Given the description of an element on the screen output the (x, y) to click on. 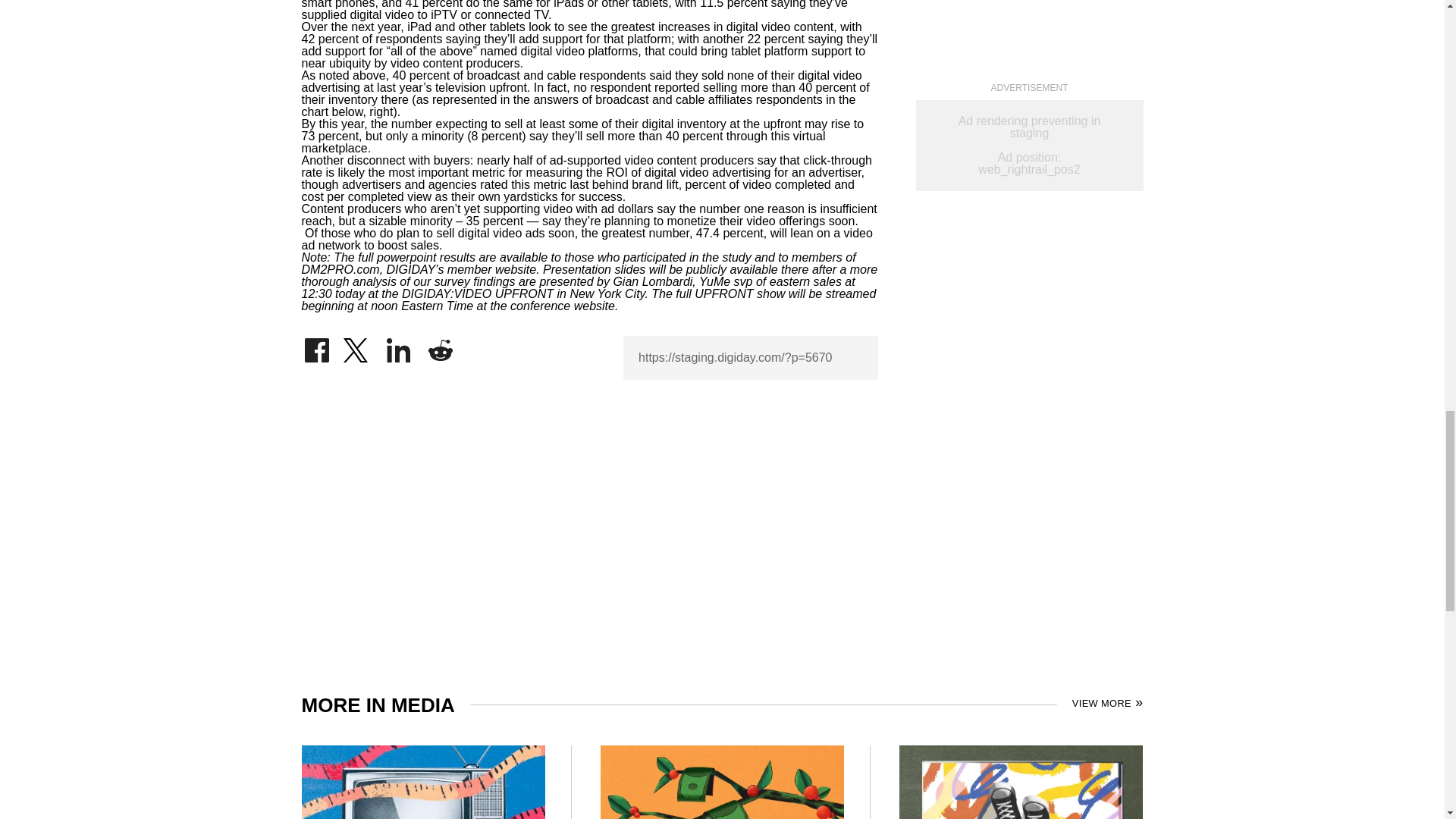
Share on LinkedIn (398, 346)
Share on Reddit (440, 346)
Share on Twitter (357, 346)
Share on Facebook (316, 346)
